Given the description of an element on the screen output the (x, y) to click on. 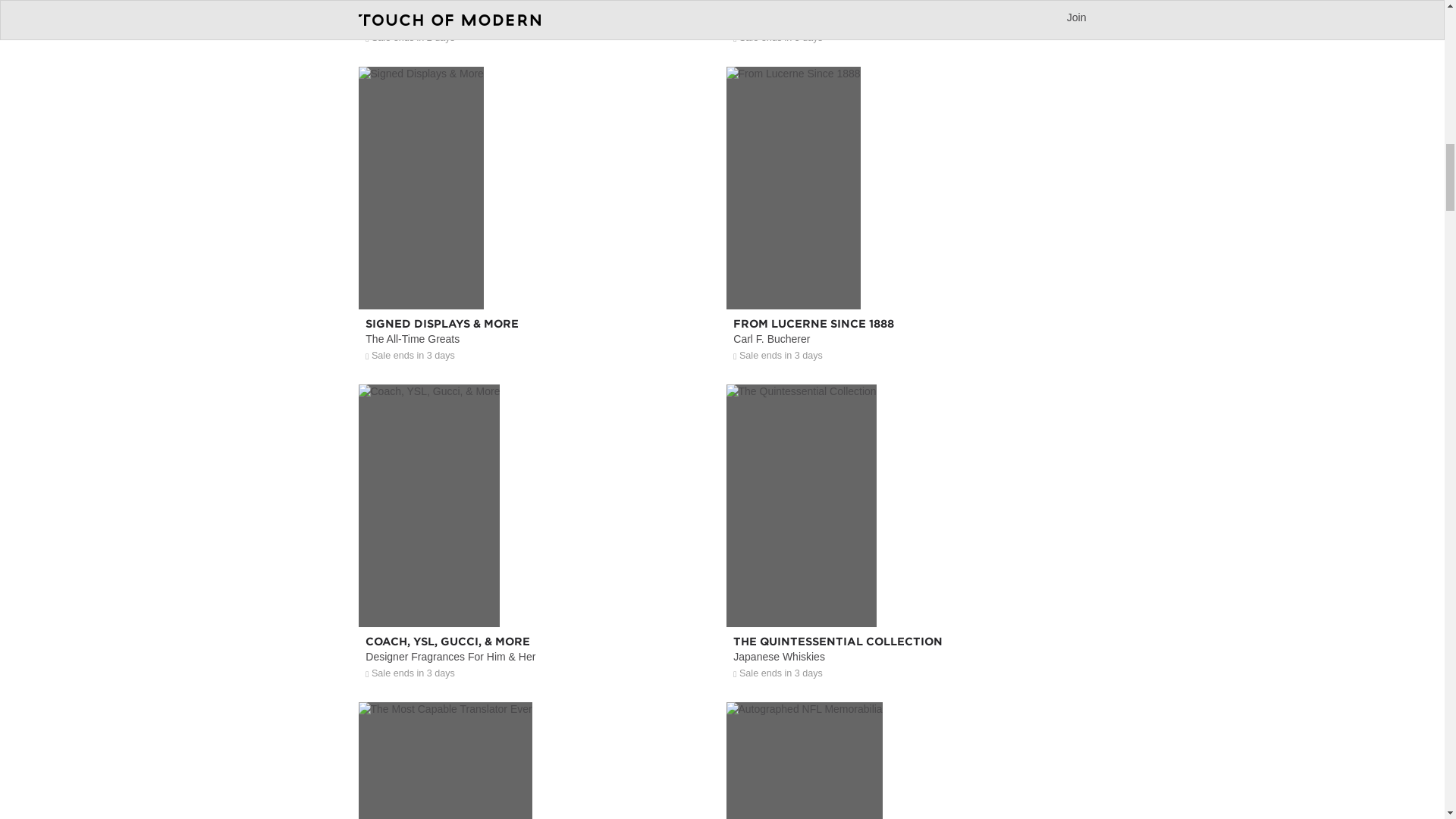
The Quintessential Collection (906, 594)
Choose From Your Favorites (906, 27)
From Lucerne Since 1888 (906, 276)
